Given the description of an element on the screen output the (x, y) to click on. 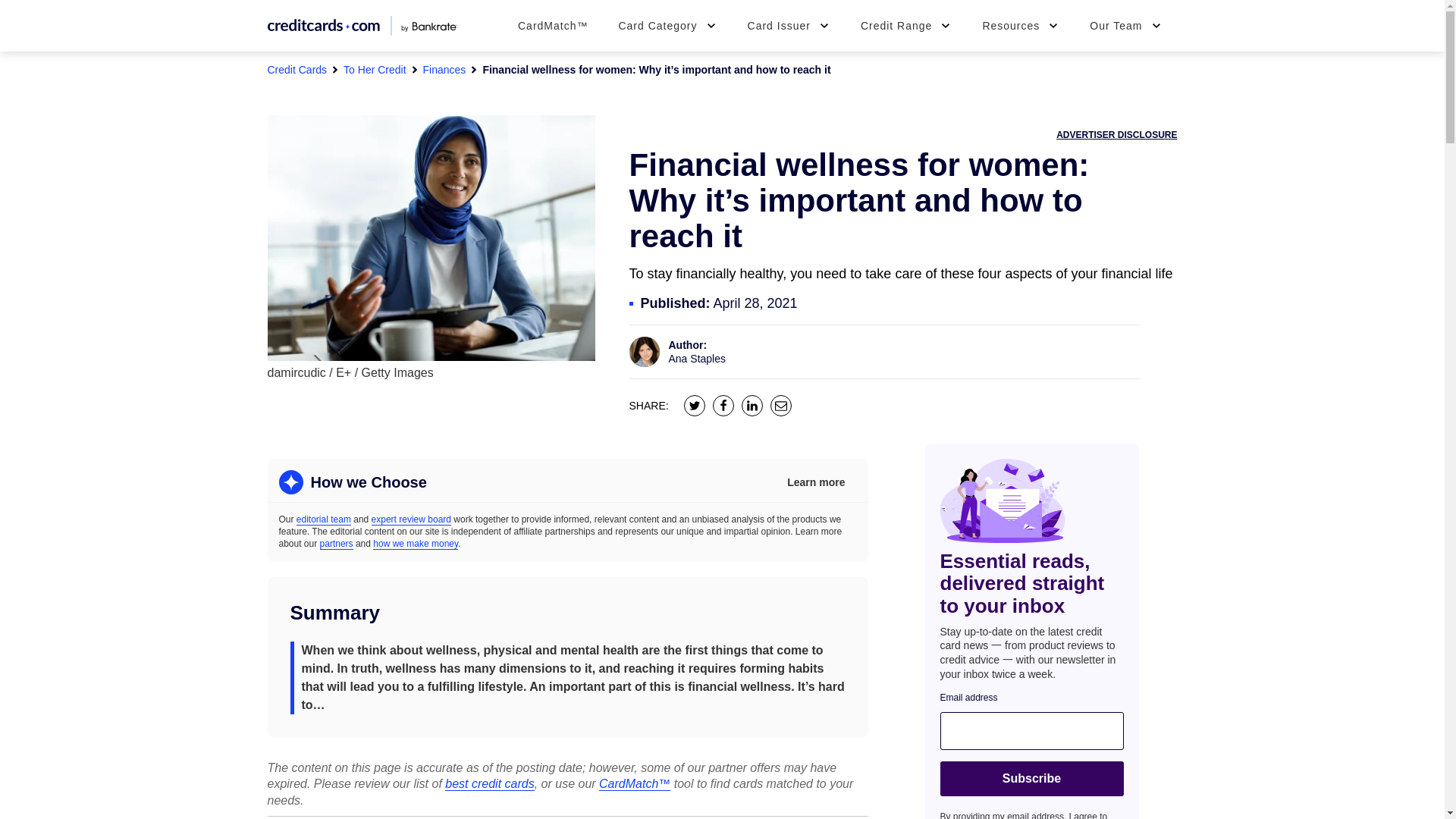
Credit Range (906, 25)
Card Category (667, 25)
Card Issuer (788, 25)
